Given the description of an element on the screen output the (x, y) to click on. 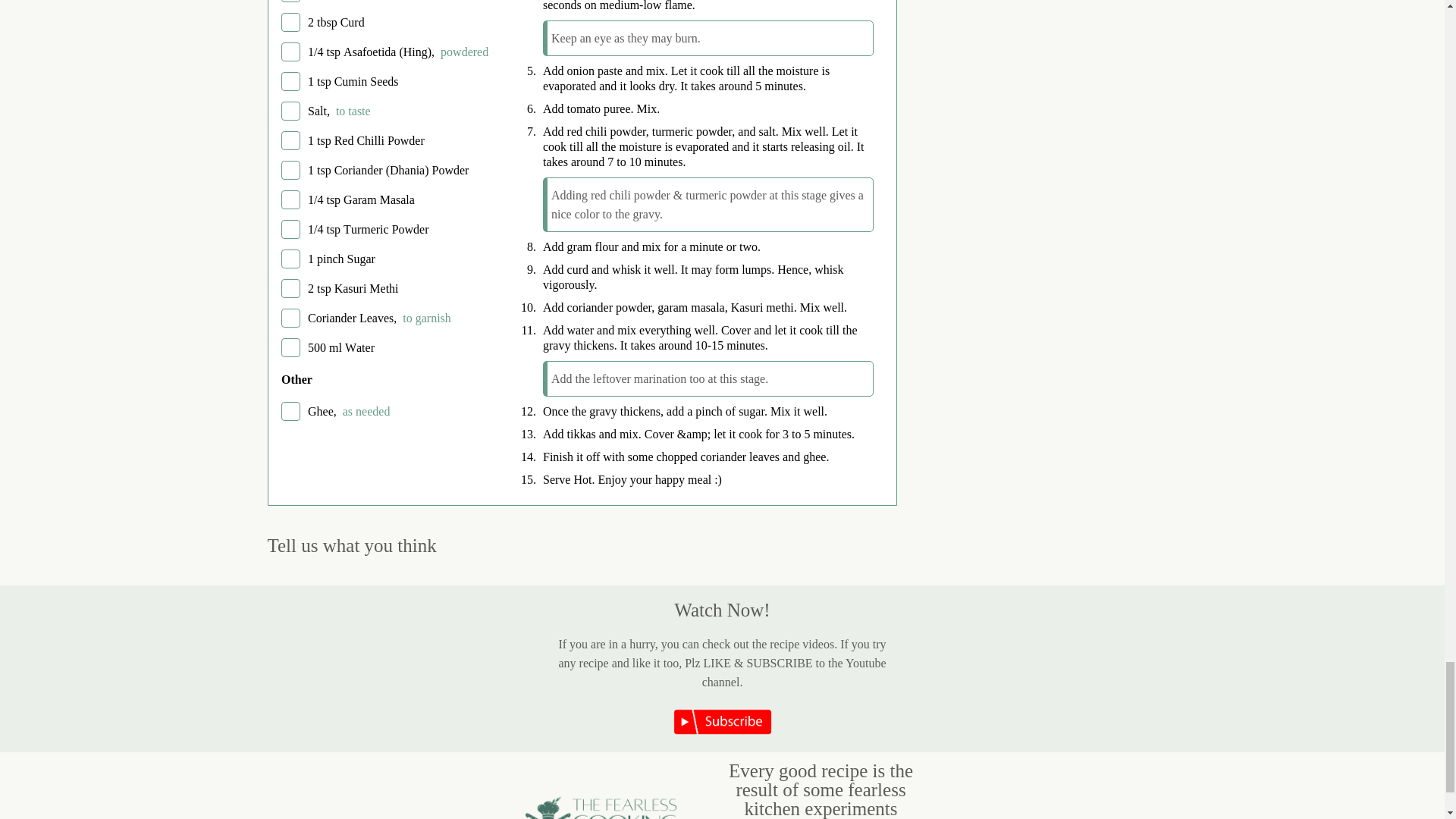
on (290, 22)
on (290, 1)
